Given the description of an element on the screen output the (x, y) to click on. 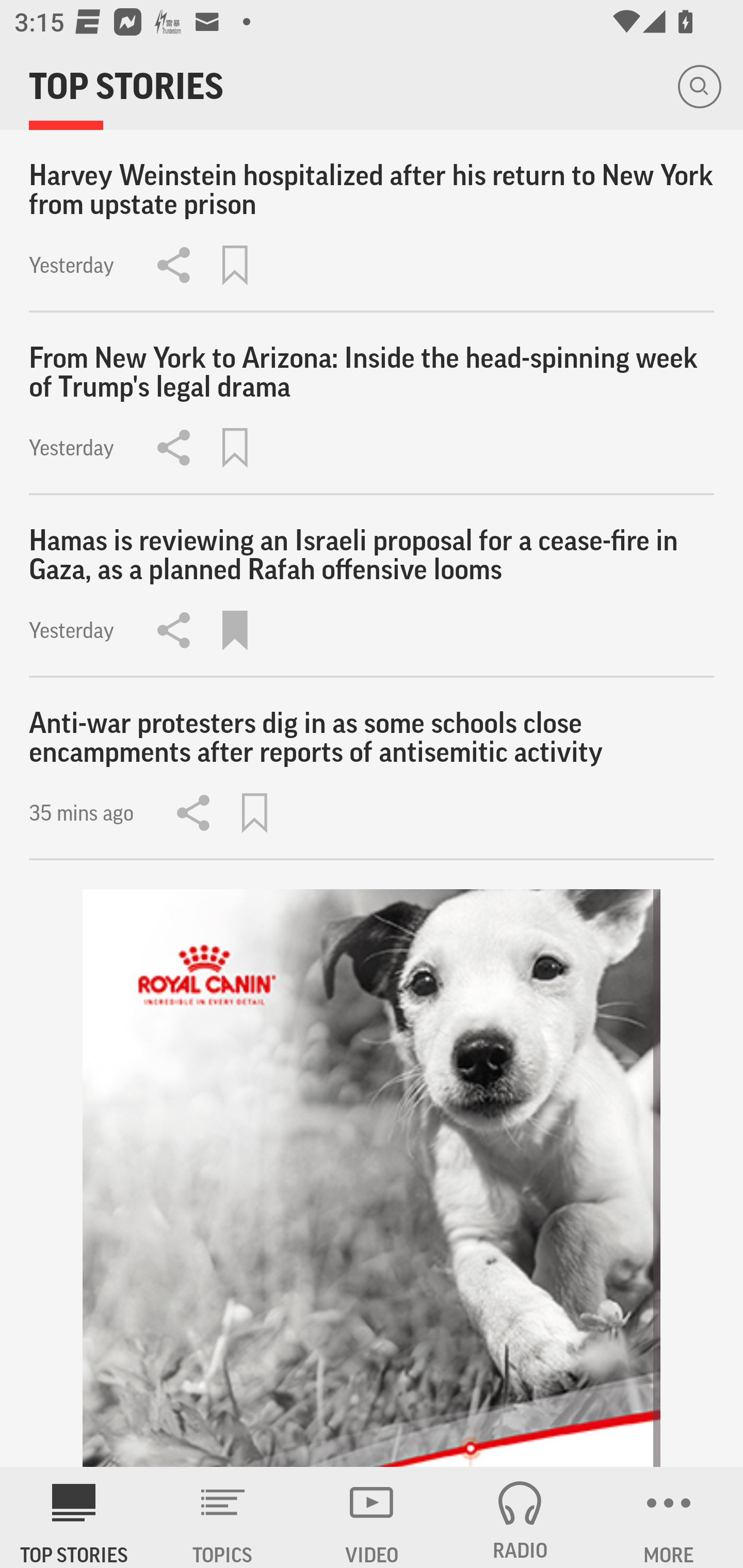
AP News TOP STORIES (74, 1517)
TOPICS (222, 1517)
VIDEO (371, 1517)
RADIO (519, 1517)
MORE (668, 1517)
